Given the description of an element on the screen output the (x, y) to click on. 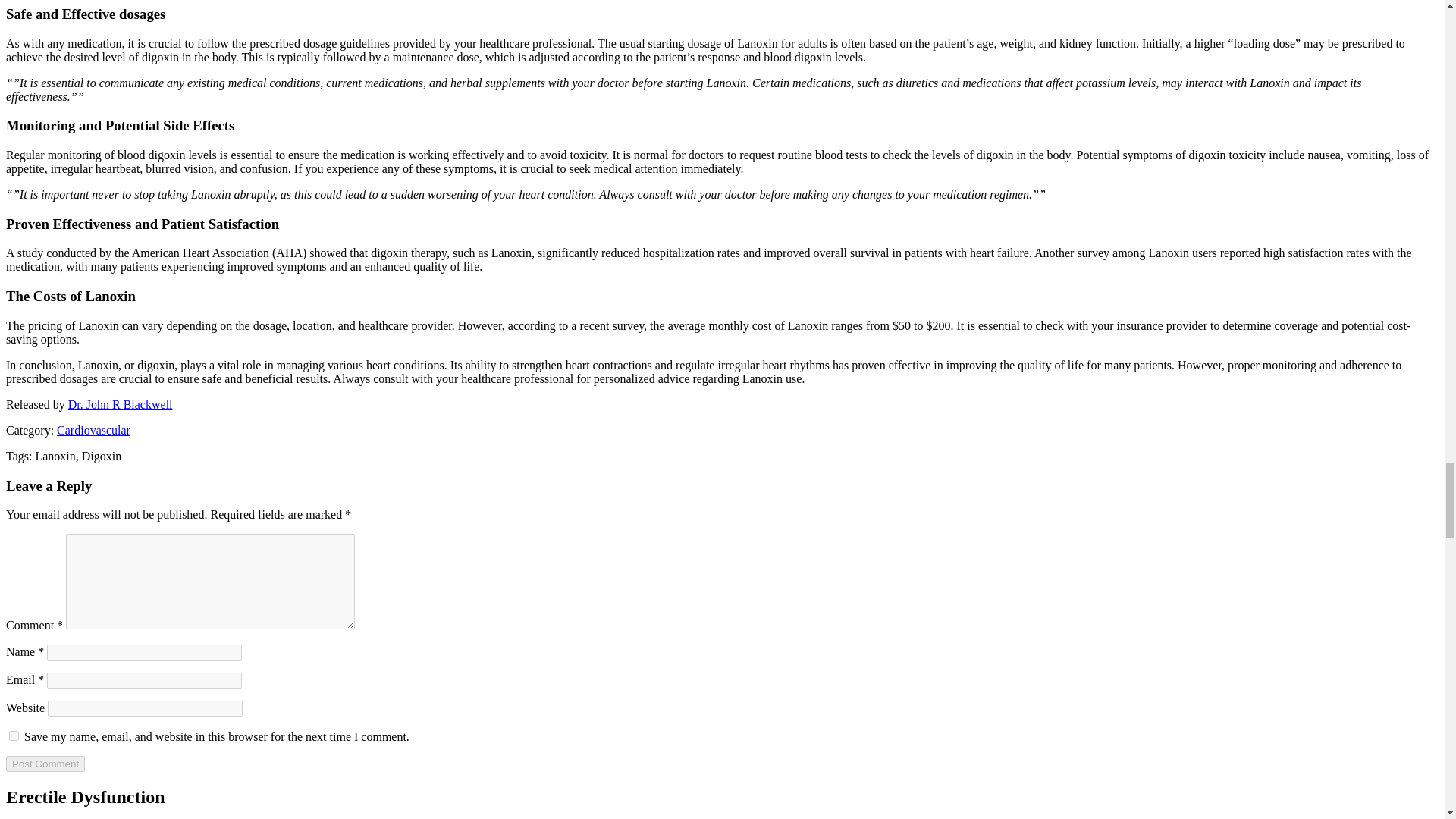
Posts by Dr. John R Blackwell (120, 404)
Post Comment (44, 763)
yes (13, 736)
